Given the description of an element on the screen output the (x, y) to click on. 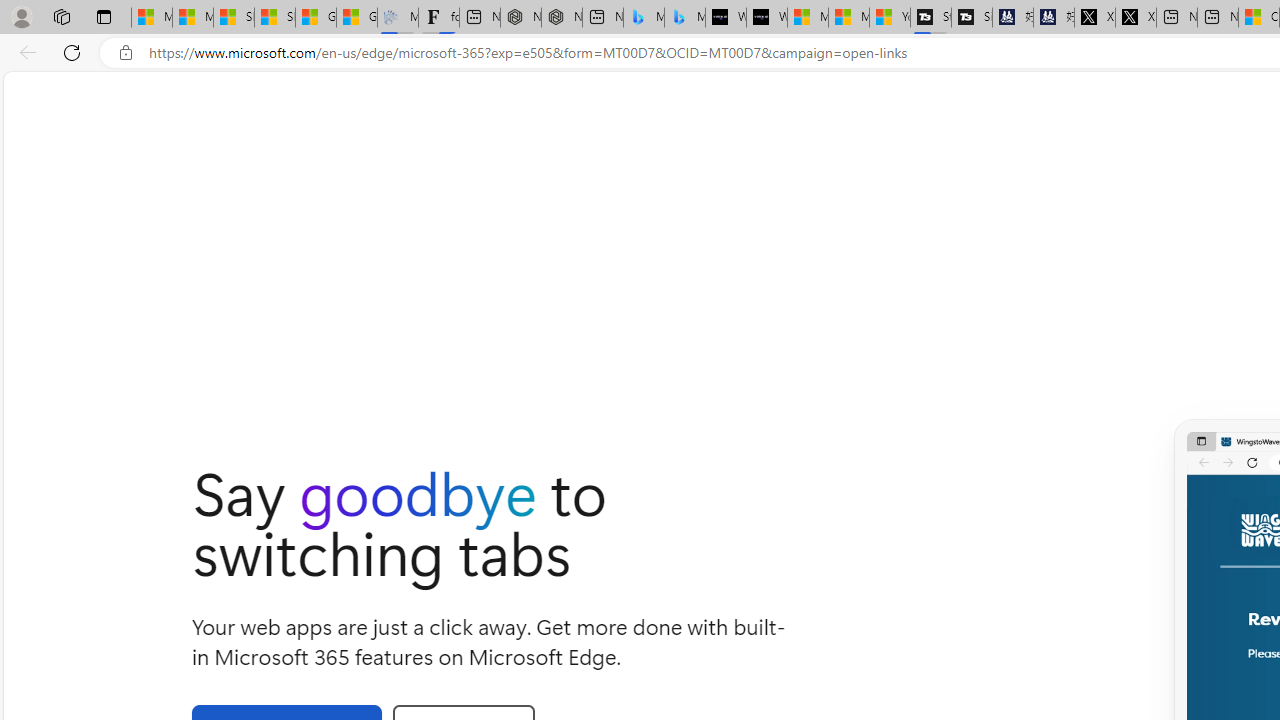
Gilma and Hector both pose tropical trouble for Hawaii (356, 17)
